Given the description of an element on the screen output the (x, y) to click on. 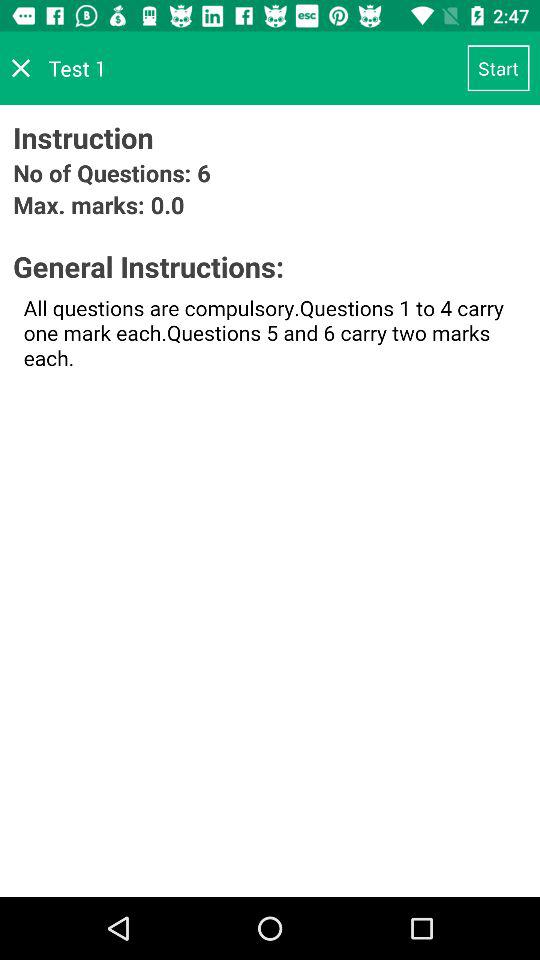
delete button (21, 68)
